Given the description of an element on the screen output the (x, y) to click on. 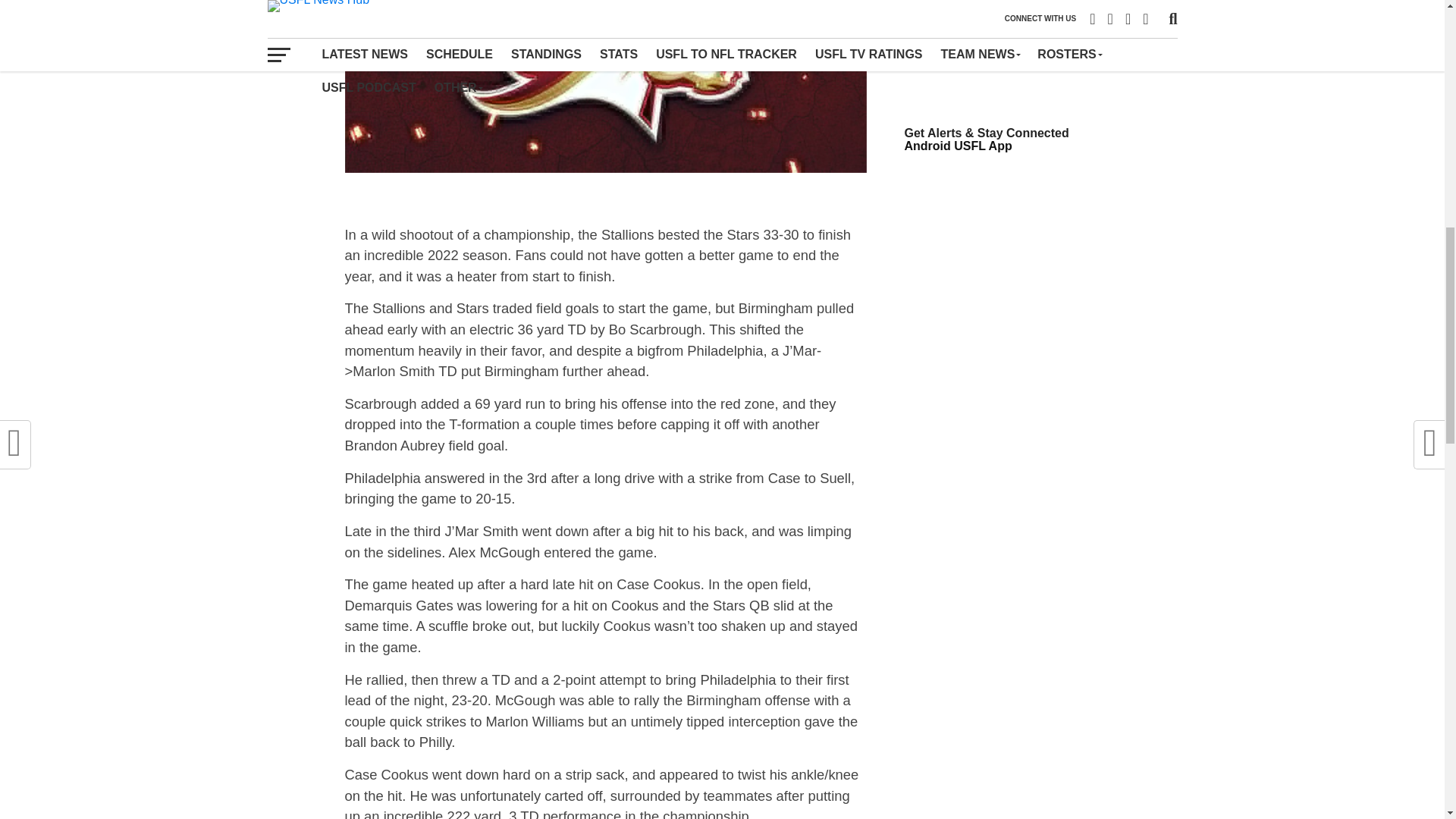
nfl-players - USFL News Hub (933, 29)
